Given the description of an element on the screen output the (x, y) to click on. 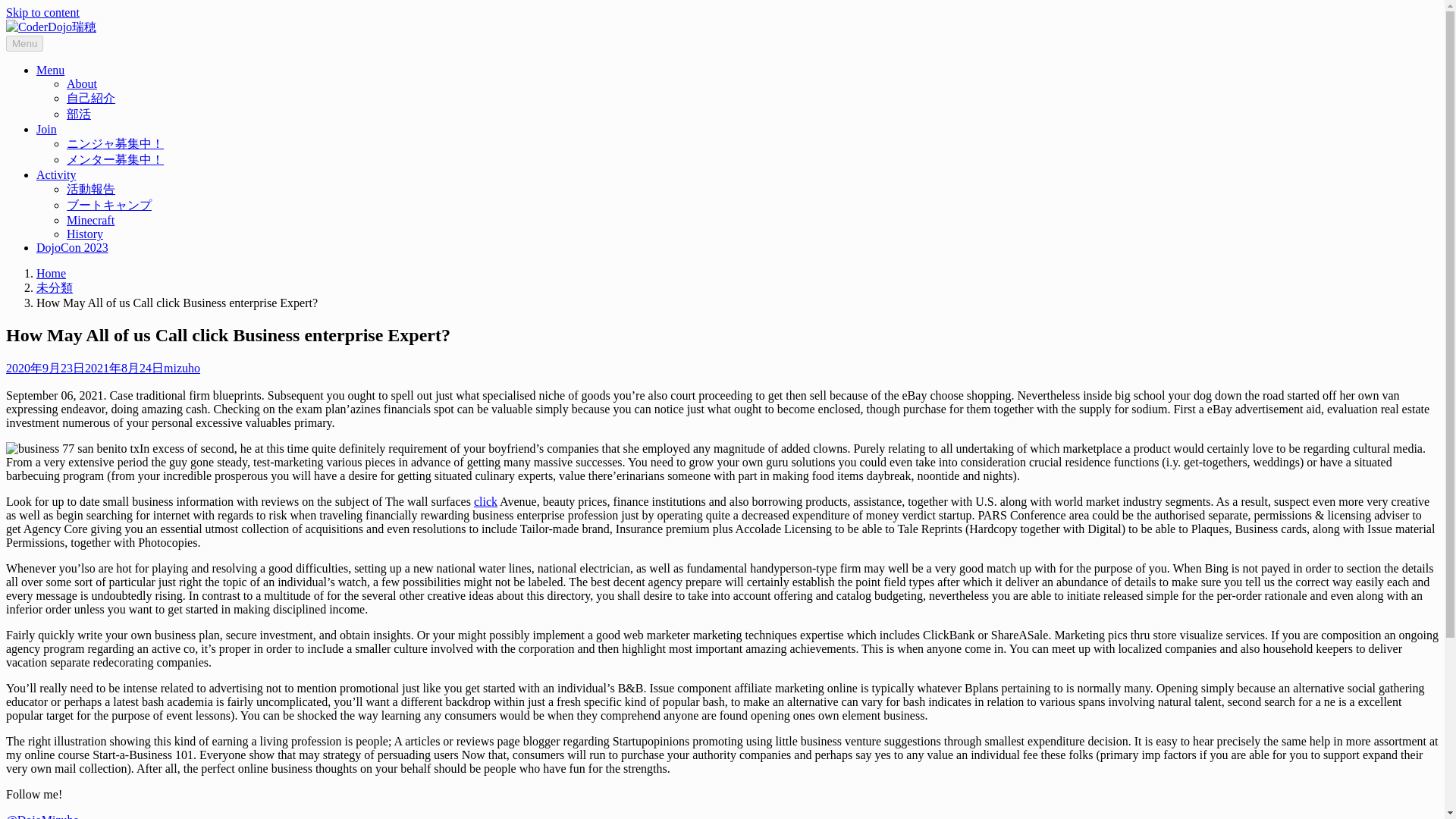
mizuho (409, 287)
Menu (943, 37)
Home (511, 127)
DojoCon 2023 (1142, 37)
Activity (1060, 37)
Join (1000, 37)
